Given the description of an element on the screen output the (x, y) to click on. 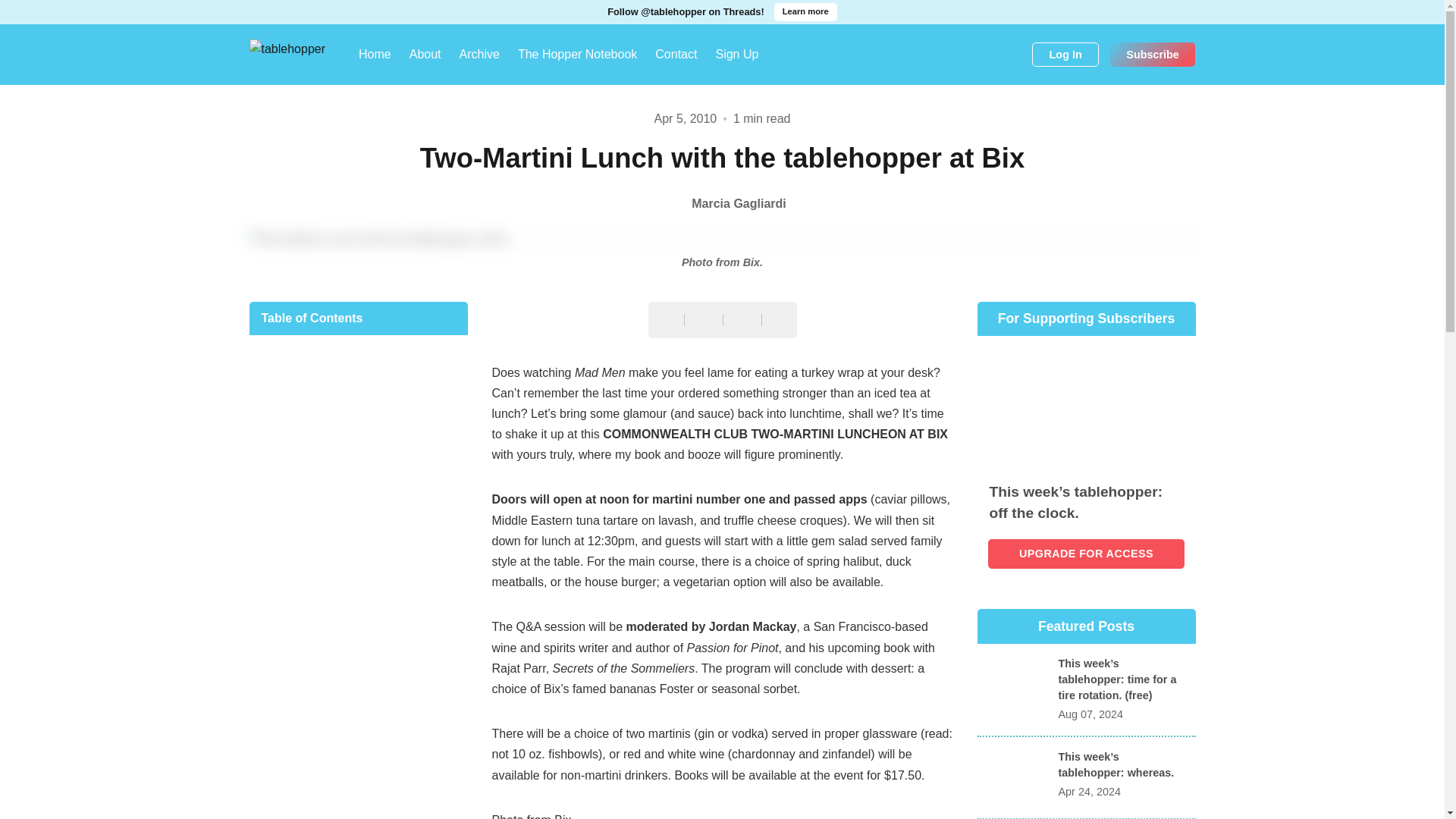
Subscribe (1152, 54)
Sign Up (736, 54)
Search (1014, 54)
Share by email (741, 321)
Copy to clipboard (780, 322)
The Hopper Notebook (577, 54)
Home (374, 54)
Archive (478, 54)
Marcia Gagliardi (722, 203)
About (424, 54)
